Given the description of an element on the screen output the (x, y) to click on. 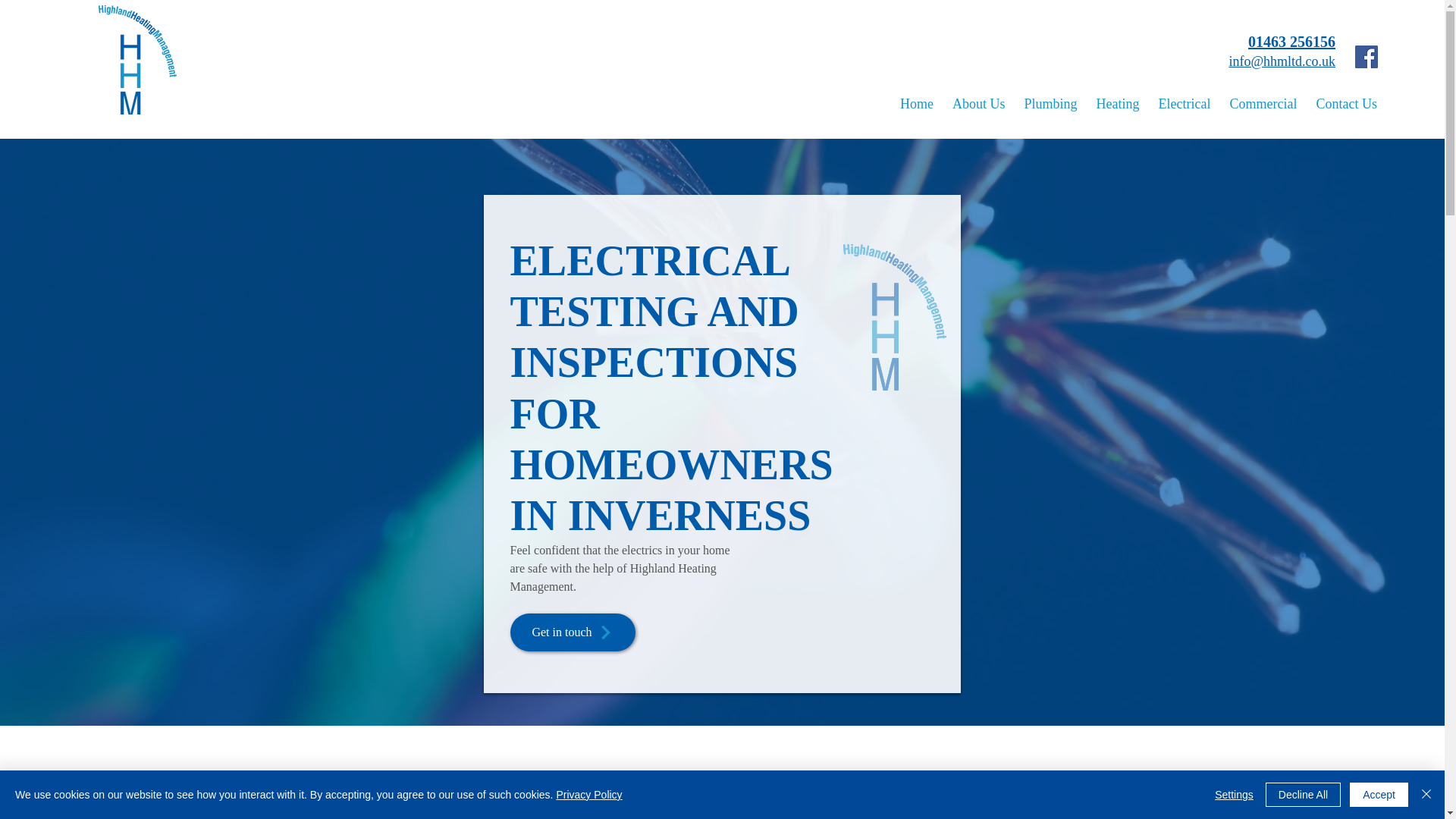
Commercial (1263, 103)
Electrical (1184, 103)
About Us (978, 103)
01463 256156 (1291, 41)
Contact Us (1347, 103)
Home (916, 103)
Get in touch (571, 632)
Plumbing (1050, 103)
Heating (1118, 103)
